Given the description of an element on the screen output the (x, y) to click on. 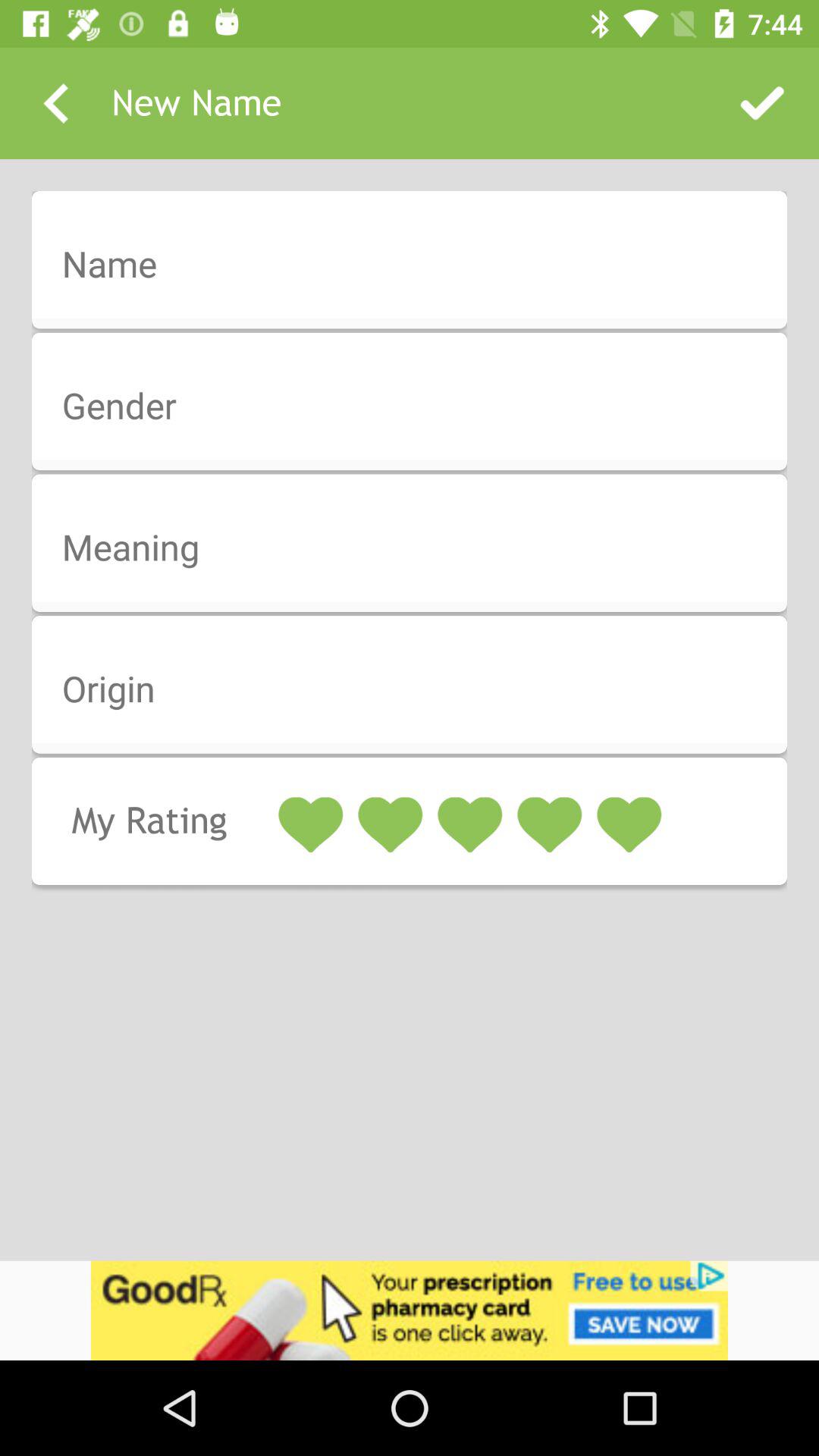
insert name (419, 265)
